Given the description of an element on the screen output the (x, y) to click on. 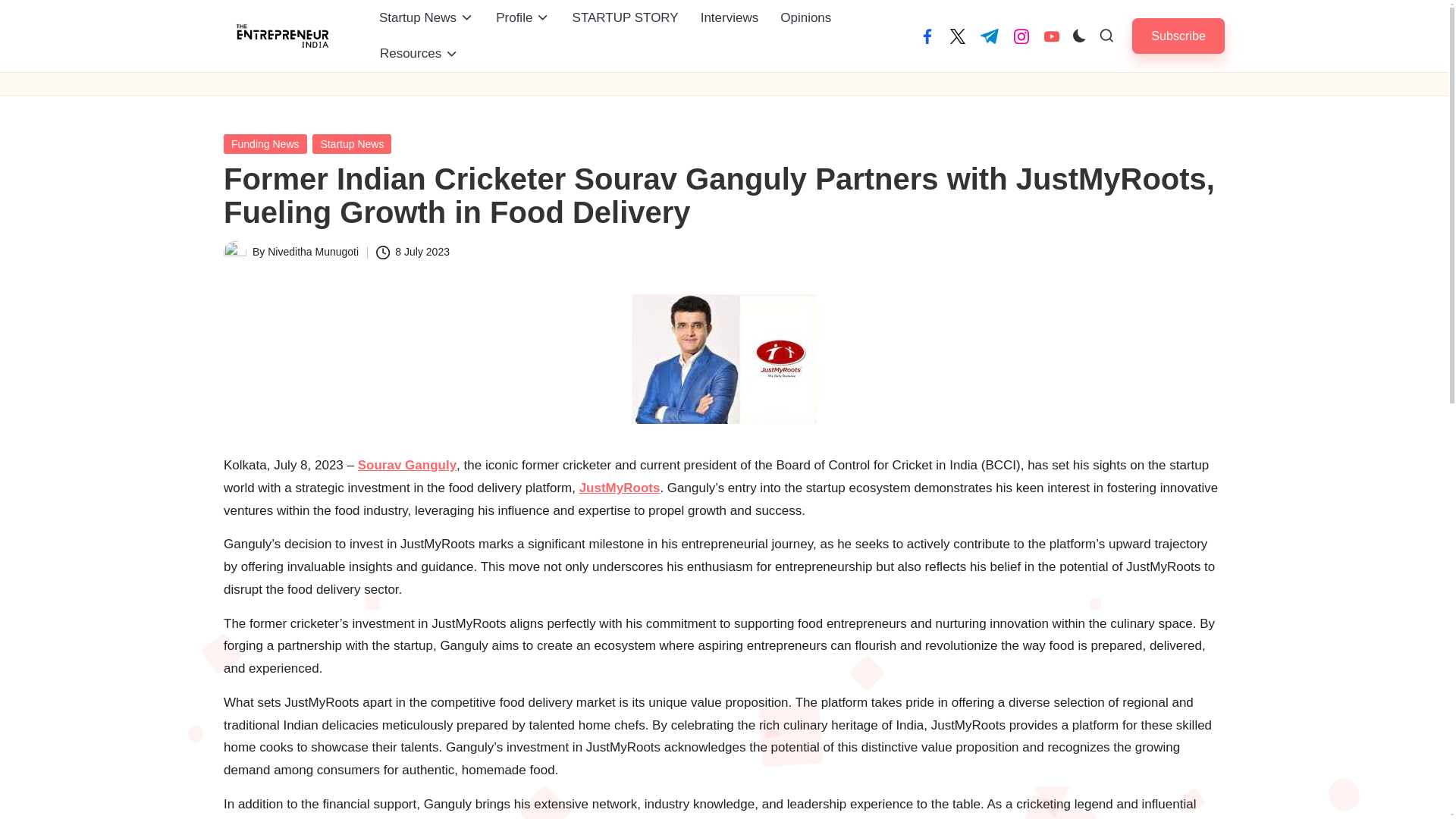
Opinions (805, 18)
youtube.com (1051, 36)
instagram.com (1020, 36)
Startup News (426, 18)
Interviews (730, 18)
STARTUP STORY (625, 18)
Subscribe (1178, 36)
Sourav Ganguly Invests in Food Delivery Startup JustMyRoots (723, 359)
Profile (522, 18)
twitter.com (957, 36)
